Given the description of an element on the screen output the (x, y) to click on. 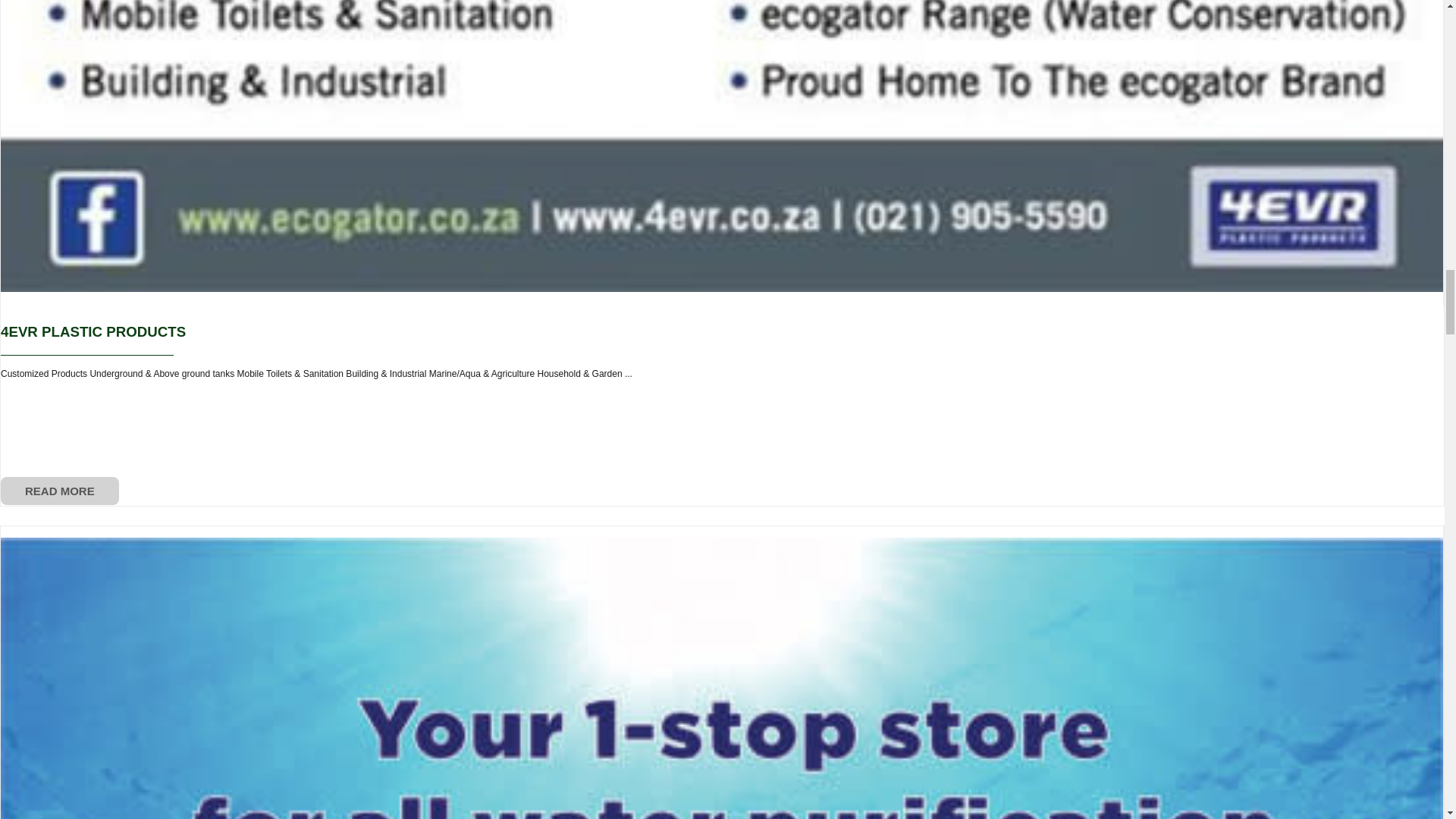
4EVR PLASTIC PRODUCTS (93, 331)
READ MORE (60, 490)
